Given the description of an element on the screen output the (x, y) to click on. 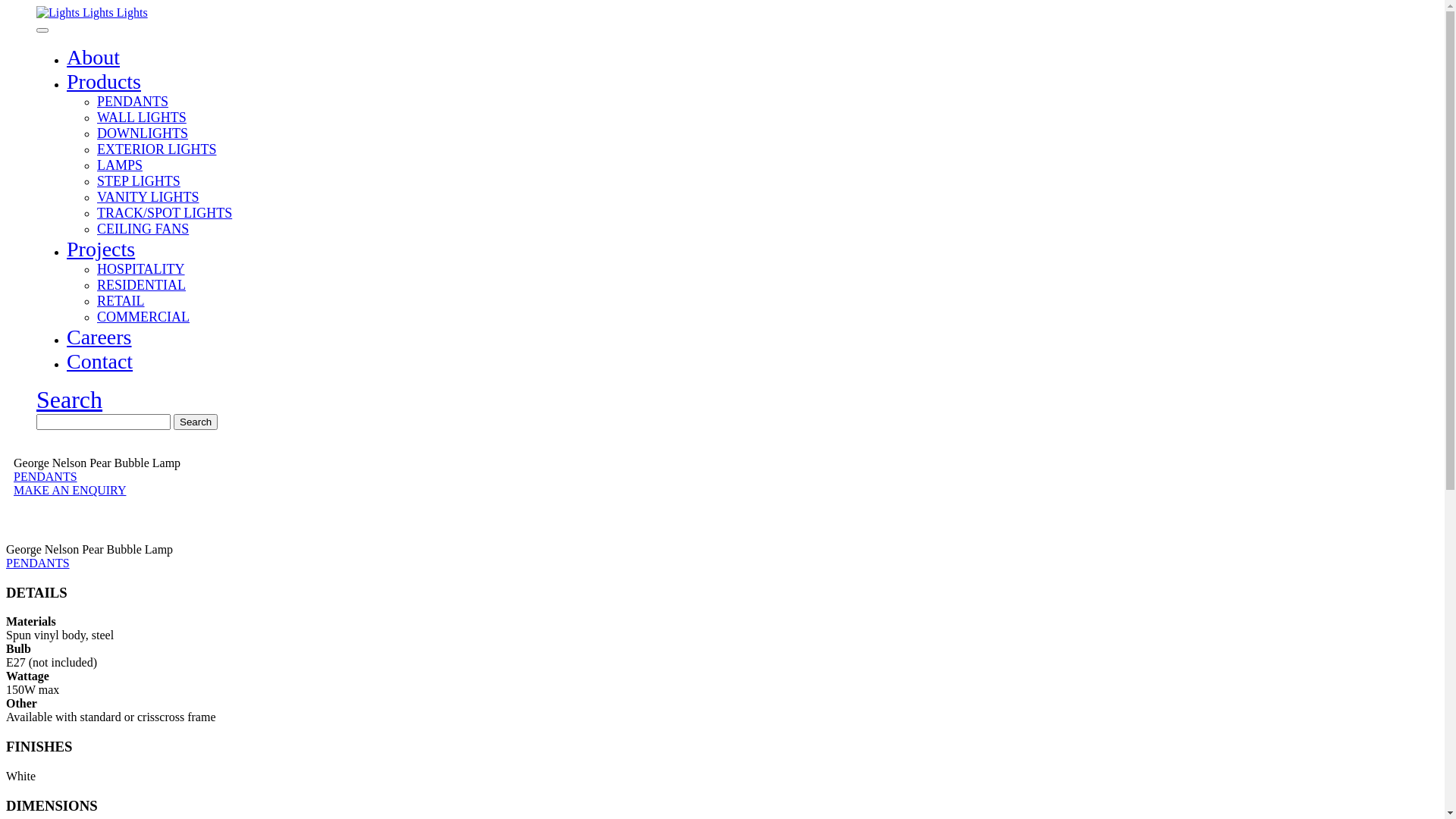
LAMPS Element type: text (119, 164)
Products Element type: text (103, 81)
Careers Element type: text (98, 336)
CEILING FANS Element type: text (142, 228)
Contact Element type: text (99, 361)
About Element type: text (92, 57)
PENDANTS Element type: text (132, 101)
RESIDENTIAL Element type: text (141, 284)
COMMERCIAL Element type: text (143, 316)
EXTERIOR LIGHTS Element type: text (156, 148)
TRACK/SPOT LIGHTS Element type: text (164, 212)
Search Element type: text (69, 399)
Projects Element type: text (100, 248)
MAKE AN ENQUIRY Element type: text (69, 489)
DOWNLIGHTS Element type: text (142, 133)
RETAIL Element type: text (120, 300)
HOSPITALITY Element type: text (141, 268)
WALL LIGHTS Element type: text (141, 117)
PENDANTS Element type: text (37, 562)
PENDANTS Element type: text (45, 476)
VANITY LIGHTS Element type: text (148, 196)
Search Element type: text (195, 421)
STEP LIGHTS Element type: text (138, 180)
